Given the description of an element on the screen output the (x, y) to click on. 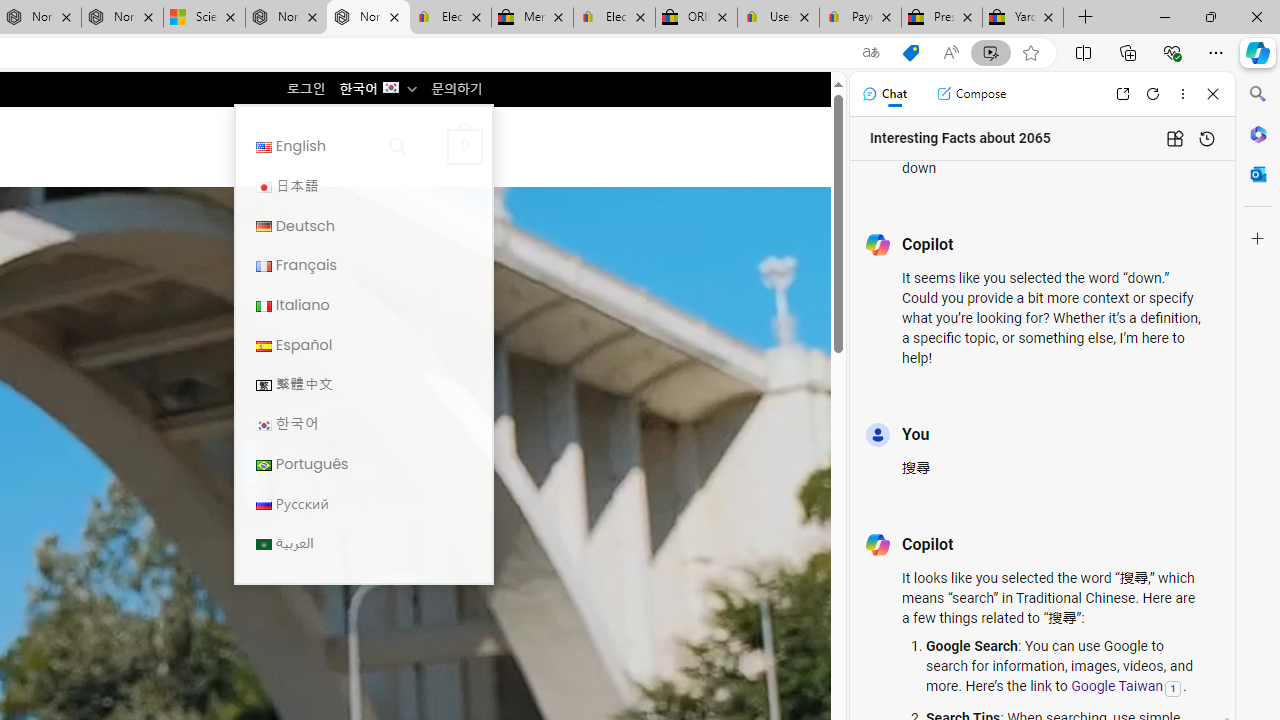
 0  (464, 146)
 English (363, 145)
